Given the description of an element on the screen output the (x, y) to click on. 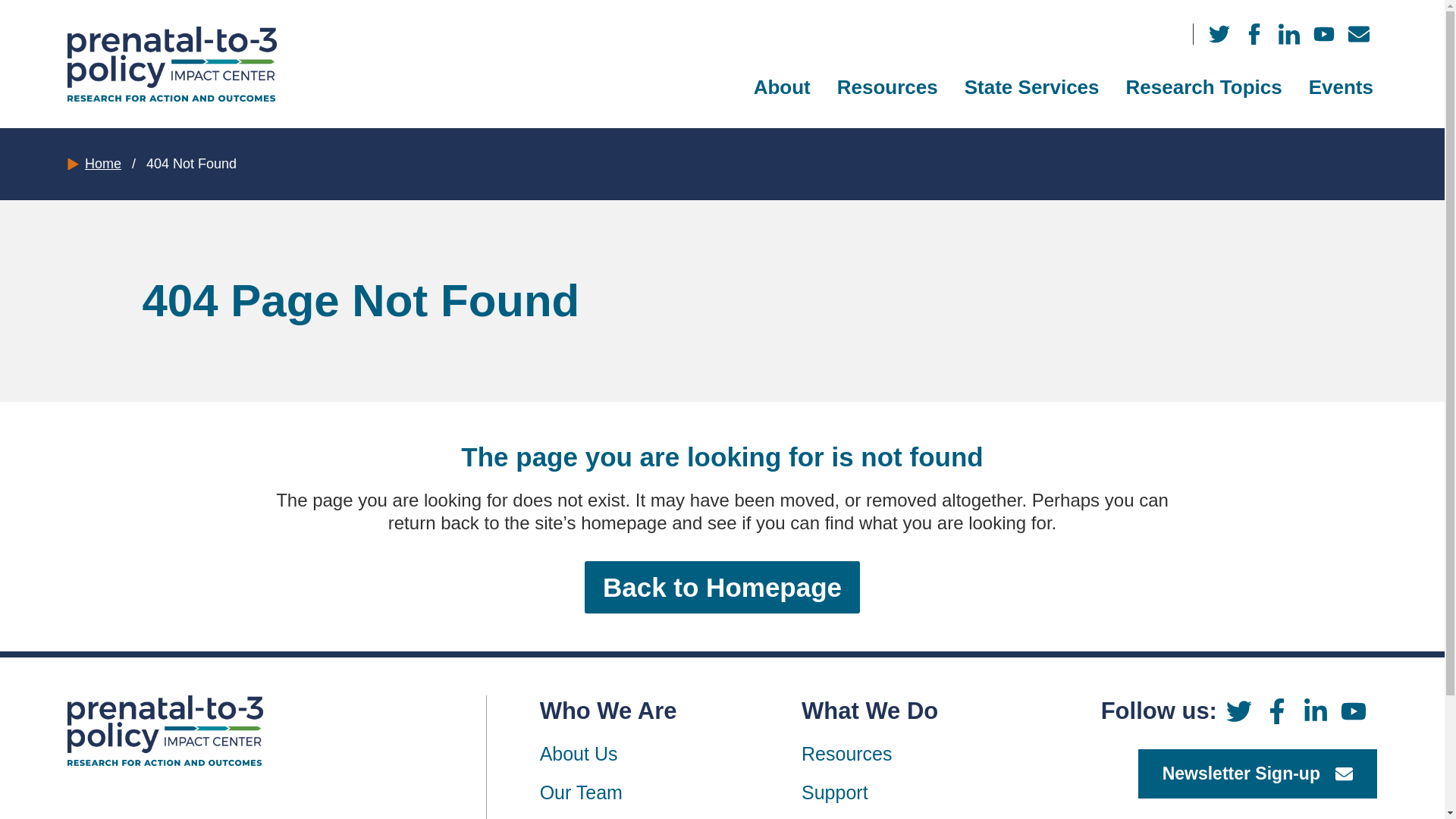
Research Topics (1203, 87)
About (781, 87)
Resources (887, 87)
Asset 8-8 (164, 730)
Events (1340, 87)
State Services (1031, 87)
